Given the description of an element on the screen output the (x, y) to click on. 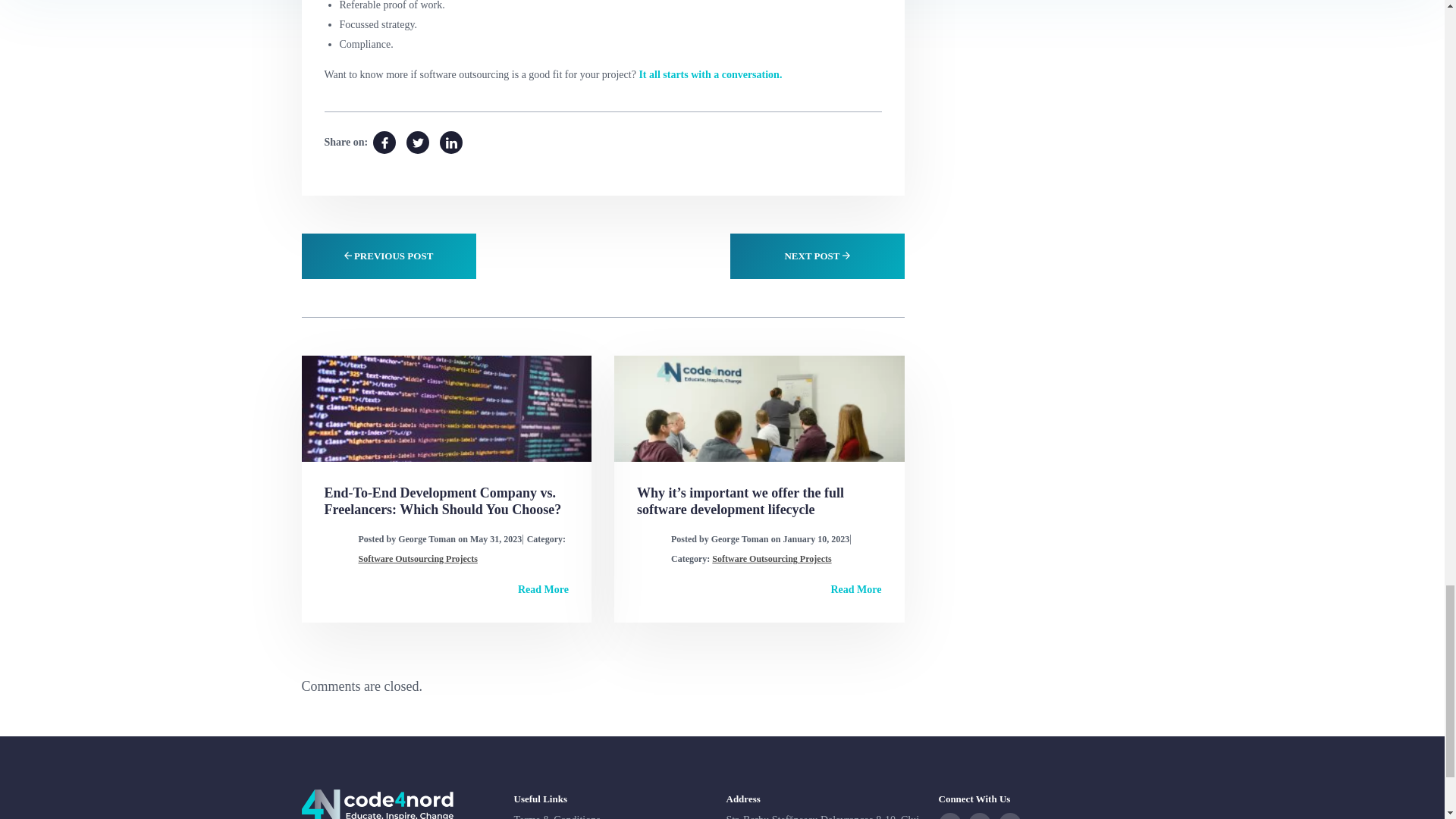
It all starts with a conversation. (710, 74)
Software Outsourcing Projects (771, 558)
Four Benefits of Software Outsourcing (417, 142)
Software Outsourcing Projects (417, 558)
Read More (543, 589)
Four Benefits of Software Outsourcing (451, 142)
PREVIOUS POST (388, 256)
NEXT POST (816, 256)
Read More (856, 589)
